Given the description of an element on the screen output the (x, y) to click on. 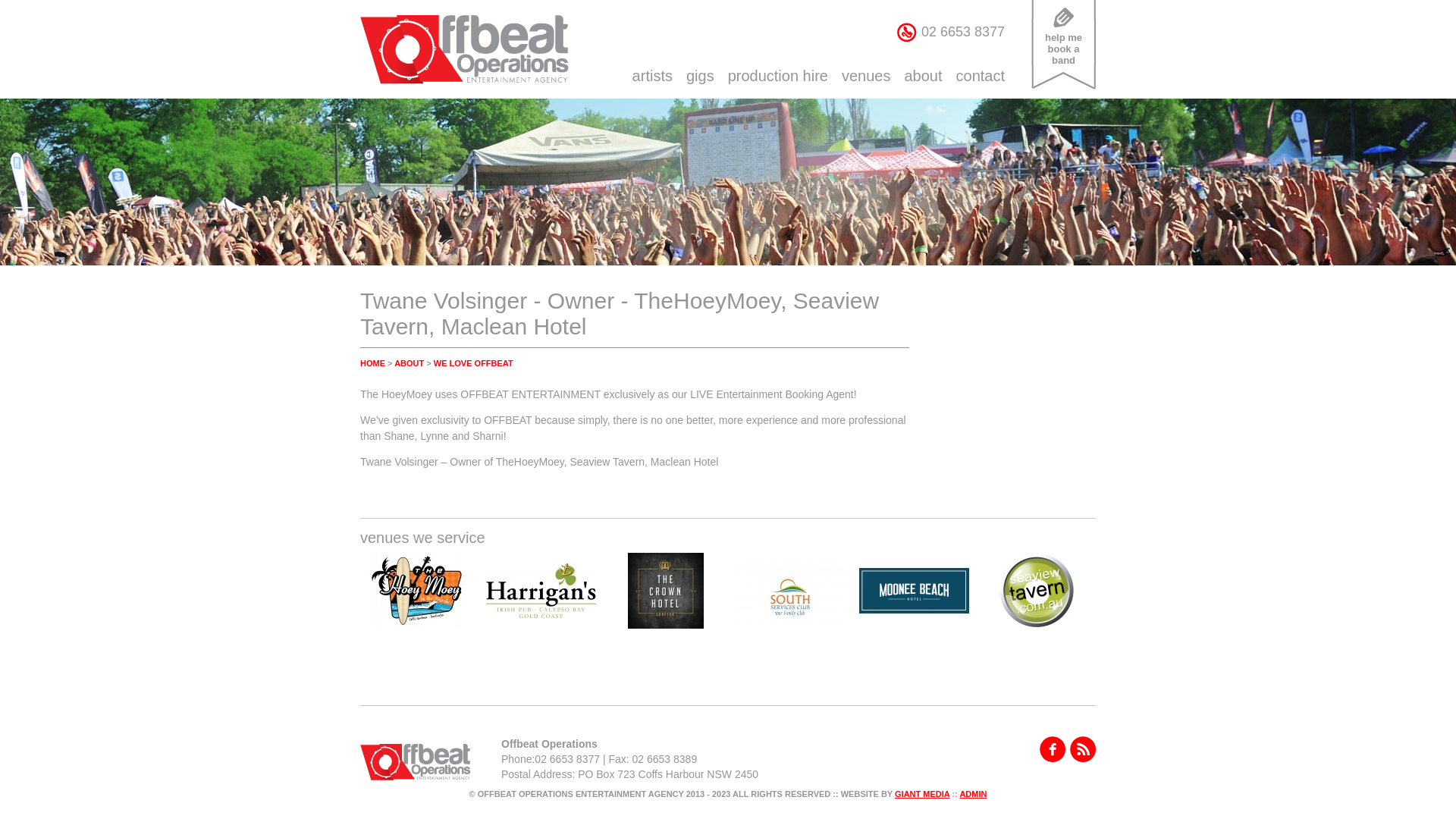
ABOUT Element type: text (408, 362)
production hire Element type: text (778, 75)
help me book a band Element type: text (1063, 36)
GIANT MEDIA Element type: text (921, 793)
gigs Element type: text (700, 75)
ADMIN Element type: text (972, 793)
contact Element type: text (980, 75)
HOME Element type: text (372, 362)
venues Element type: text (866, 75)
about Element type: text (922, 75)
artists Element type: text (652, 75)
Offbeat Operations Entertainment Agency Element type: text (464, 49)
WE LOVE OFFBEAT Element type: text (473, 362)
